Given the description of an element on the screen output the (x, y) to click on. 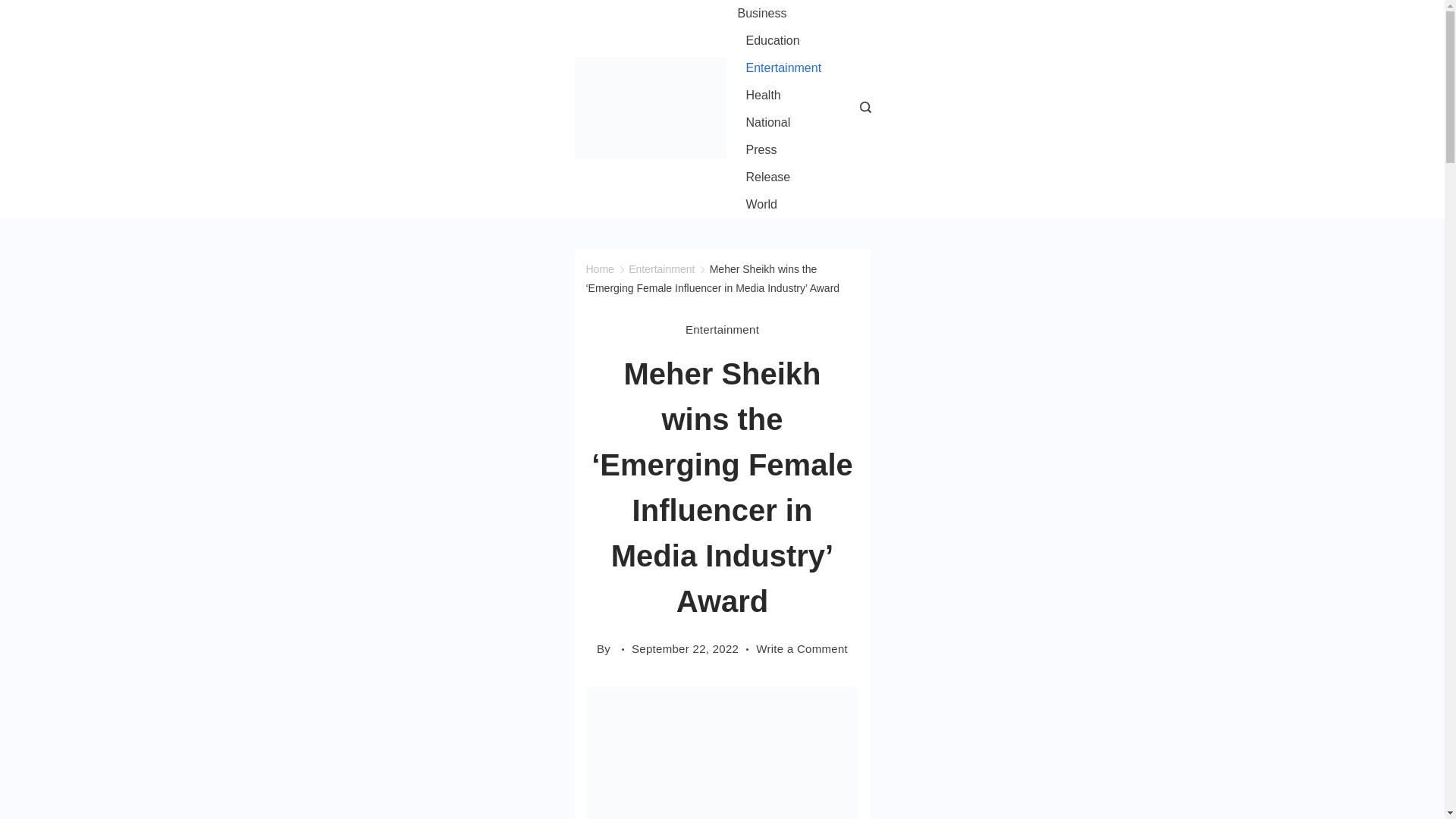
Business (765, 13)
Home (598, 268)
Entertainment (782, 67)
Entertainment (721, 329)
World (756, 204)
Health (762, 94)
Entertainment (661, 268)
Press Release (782, 163)
Education (772, 40)
National (766, 122)
